Given the description of an element on the screen output the (x, y) to click on. 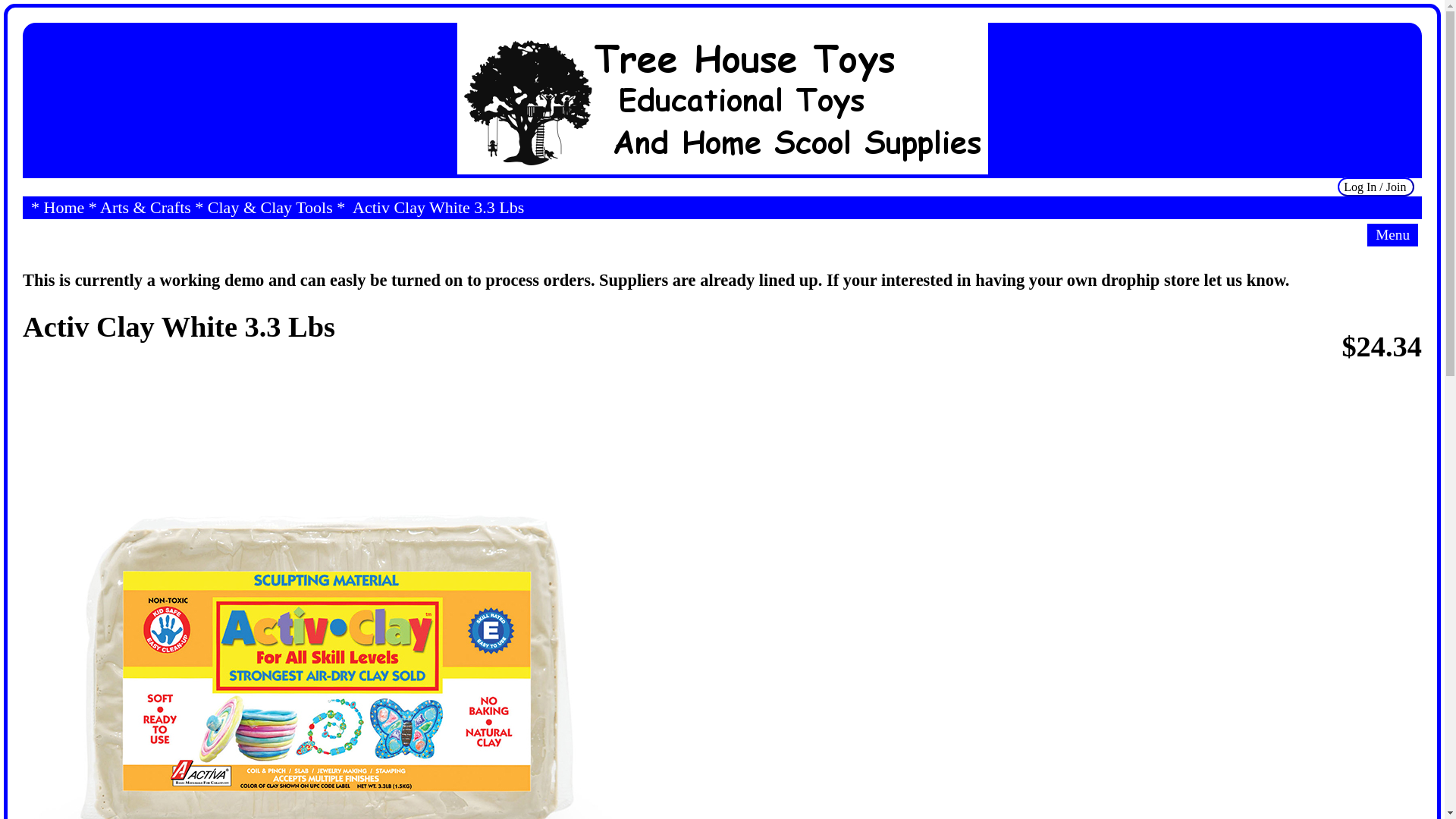
Home (63, 207)
Activ Clay White 3.3 Lbs (436, 207)
Menu (1392, 234)
Tree House Toys - Educational Toys and Home School Supplies (722, 98)
